Given the description of an element on the screen output the (x, y) to click on. 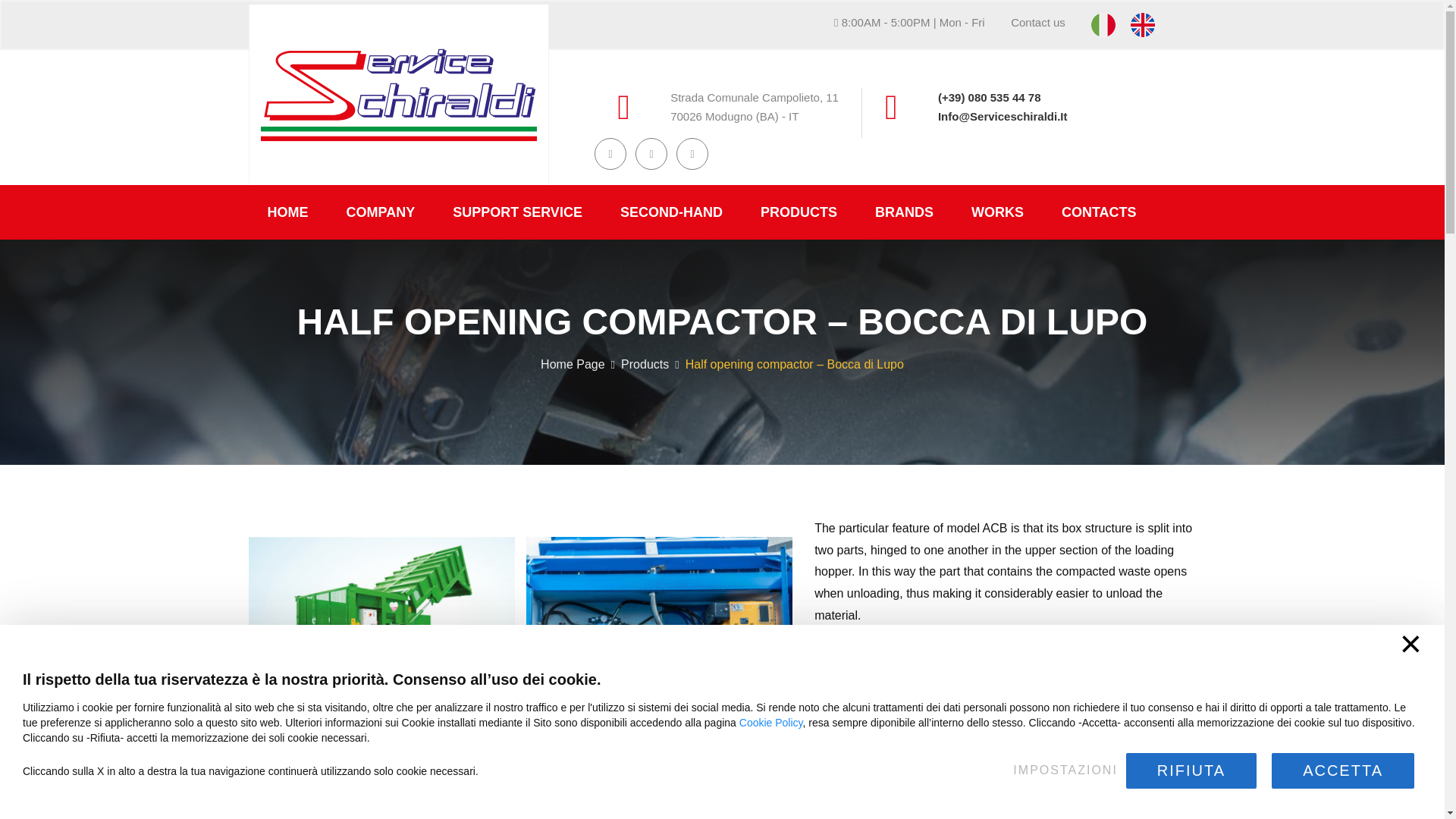
SECOND-HAND (671, 212)
PRODUCTS (798, 212)
COMPANY (380, 212)
Products (644, 364)
HOME (287, 212)
CONTACTS (1099, 212)
WORKS (997, 212)
Home Page (572, 364)
Contact us (1037, 21)
BRANDS (904, 212)
SUPPORT SERVICE (517, 212)
